Given the description of an element on the screen output the (x, y) to click on. 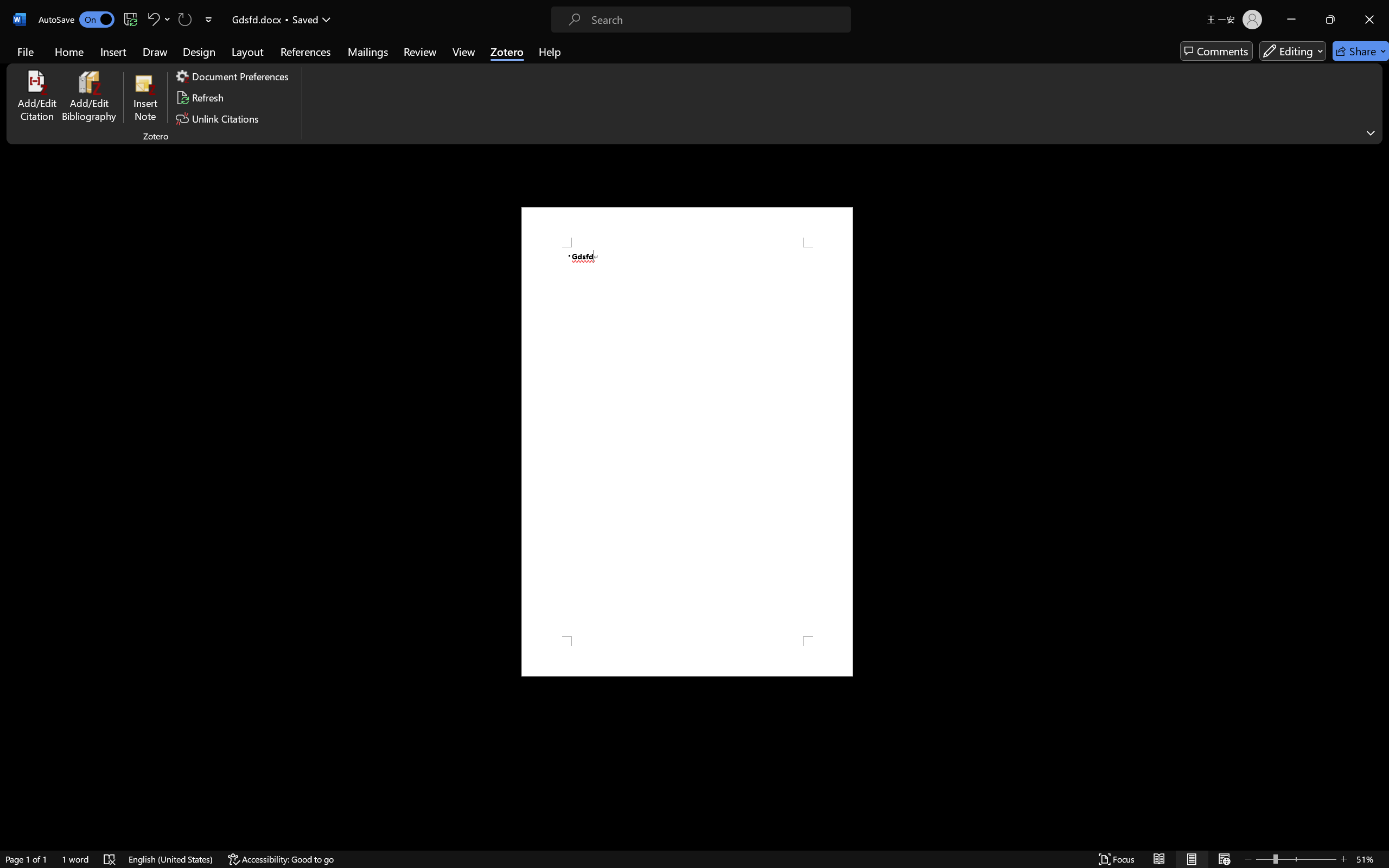
Page 1 content (686, 441)
